Given the description of an element on the screen output the (x, y) to click on. 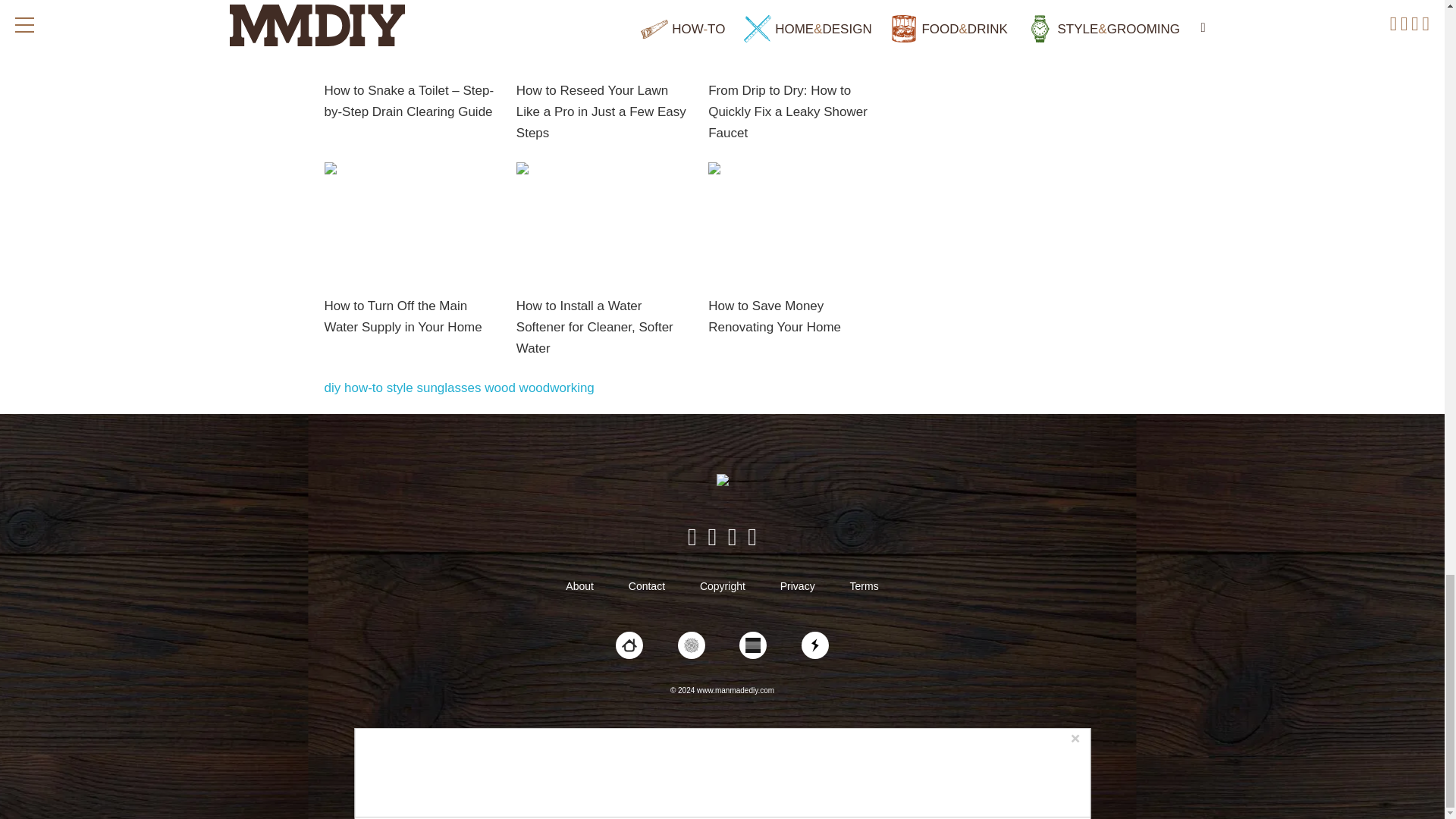
Decoist (629, 644)
I Waste So Much Time (753, 644)
Slow Robot (815, 644)
Higher Perspectives (691, 644)
